Given the description of an element on the screen output the (x, y) to click on. 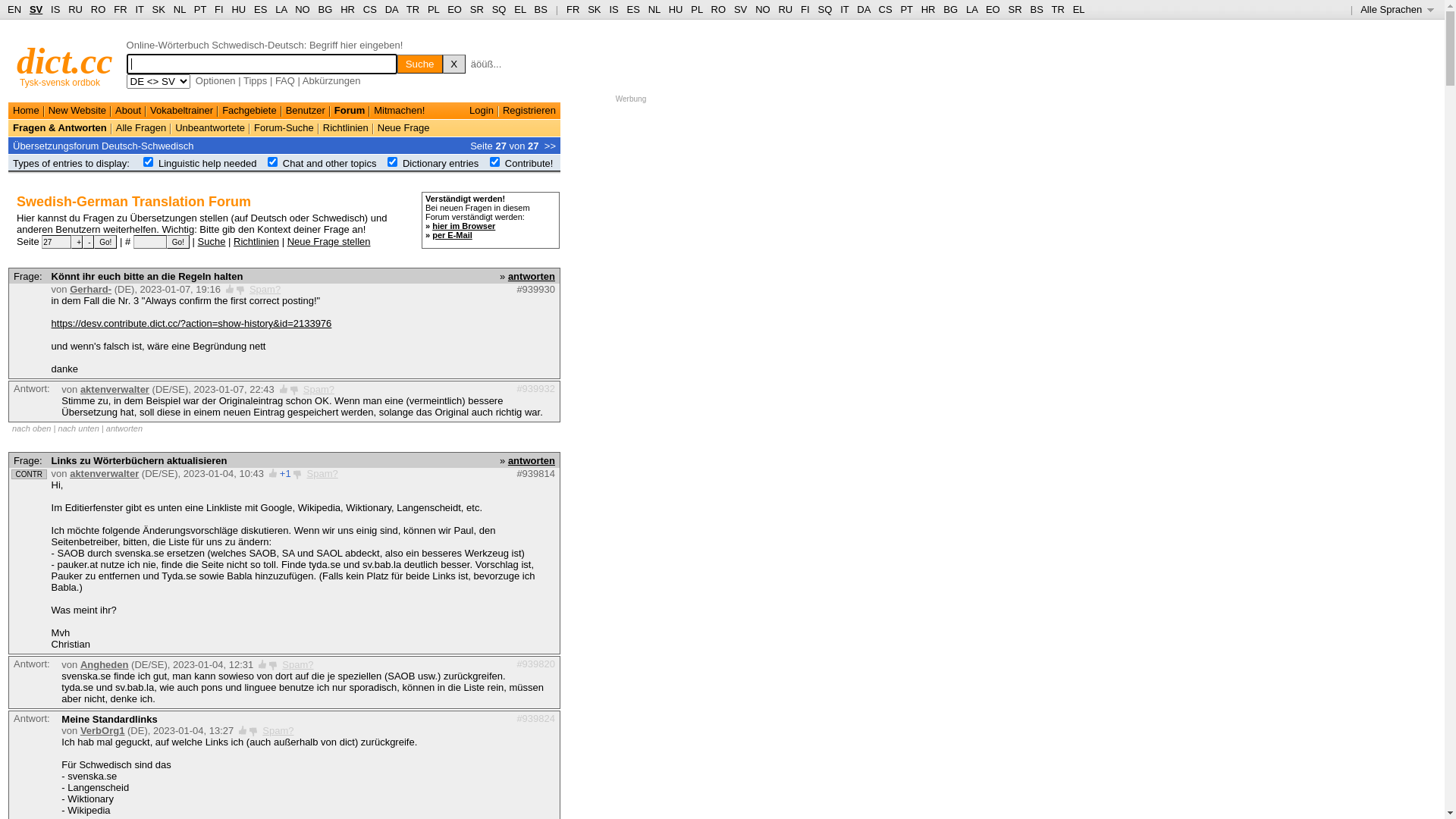
Forum-Suche Element type: text (283, 127)
Forum Element type: text (349, 110)
RO Element type: text (718, 9)
>> Element type: text (549, 144)
LA Element type: text (971, 9)
BS Element type: text (1035, 9)
Go! Element type: text (177, 241)
Registrieren Element type: text (528, 110)
aktenverwalter Element type: text (103, 473)
EO Element type: text (454, 9)
Login Element type: text (481, 110)
Richtlinien Element type: text (345, 127)
SQ Element type: text (499, 9)
Suche Element type: text (419, 63)
+1 Element type: text (285, 473)
CS Element type: text (369, 9)
TR Element type: text (1057, 9)
VerbOrg1 Element type: text (102, 730)
About Element type: text (128, 110)
Alle Sprachen  Element type: text (1397, 9)
Neue Frage stellen Element type: text (328, 240)
Vokabeltrainer Element type: text (181, 110)
EN Element type: text (14, 9)
Contribute! Element type: text (529, 163)
Fragen & Antworten Element type: text (59, 127)
Benutzer Element type: text (305, 110)
SV Element type: text (740, 9)
SR Element type: text (1015, 9)
IT Element type: text (844, 9)
Unbeantwortete Element type: text (209, 127)
Suche Element type: text (211, 240)
IT Element type: text (138, 9)
HU Element type: text (238, 9)
ES Element type: text (260, 9)
Spam? Element type: text (277, 730)
NL Element type: text (654, 9)
FAQ Element type: text (284, 80)
NO Element type: text (302, 9)
Richtlinien Element type: text (256, 240)
DA Element type: text (862, 9)
Spam? Element type: text (297, 664)
FR Element type: text (572, 9)
ES Element type: text (633, 9)
SQ Element type: text (824, 9)
DA Element type: text (391, 9)
#939814 Element type: text (535, 473)
#939930 Element type: text (535, 288)
FI Element type: text (804, 9)
RU Element type: text (785, 9)
Alle Fragen Element type: text (141, 127)
Optionen Element type: text (215, 80)
Mitmachen! Element type: text (398, 110)
on Element type: text (392, 161)
FR Element type: text (119, 9)
Linguistic help needed Element type: text (207, 163)
NO Element type: text (762, 9)
LA Element type: text (280, 9)
X Element type: text (453, 63)
SV Element type: text (35, 9)
on Element type: text (494, 161)
nach oben Element type: text (31, 428)
FI Element type: text (218, 9)
#939932 Element type: text (535, 387)
#939820 Element type: text (535, 663)
BG Element type: text (950, 9)
#939824 Element type: text (535, 718)
antworten Element type: text (531, 460)
PL Element type: text (696, 9)
Spam? Element type: text (318, 389)
HR Element type: text (347, 9)
New Website Element type: text (77, 110)
Swedish-German Translation Forum Element type: text (133, 201)
CS Element type: text (884, 9)
antworten Element type: text (124, 428)
NL Element type: text (179, 9)
HR Element type: text (928, 9)
Fachgebiete Element type: text (249, 110)
PL Element type: text (433, 9)
EL Element type: text (519, 9)
IS Element type: text (613, 9)
on Element type: text (148, 161)
HU Element type: text (675, 9)
aktenverwalter Element type: text (114, 389)
Neue Frage Element type: text (403, 127)
PT Element type: text (200, 9)
CONTR Element type: text (28, 474)
on Element type: text (272, 161)
Tipps Element type: text (254, 80)
BS Element type: text (540, 9)
TR Element type: text (412, 9)
SR Element type: text (476, 9)
RO Element type: text (98, 9)
RU Element type: text (75, 9)
EL Element type: text (1079, 9)
BG Element type: text (325, 9)
IS Element type: text (54, 9)
Gerhard- Element type: text (90, 288)
Angheden Element type: text (104, 664)
Spam? Element type: text (322, 473)
dict.cc Element type: text (64, 60)
EO Element type: text (992, 9)
Home Element type: text (25, 110)
Dictionary entries Element type: text (440, 163)
SK Element type: text (158, 9)
antworten Element type: text (531, 275)
Spam? Element type: text (264, 288)
Chat and other topics Element type: text (329, 163)
SK Element type: text (593, 9)
Go! Element type: text (105, 241)
PT Element type: text (906, 9)
nach unten Element type: text (77, 428)
